Given the description of an element on the screen output the (x, y) to click on. 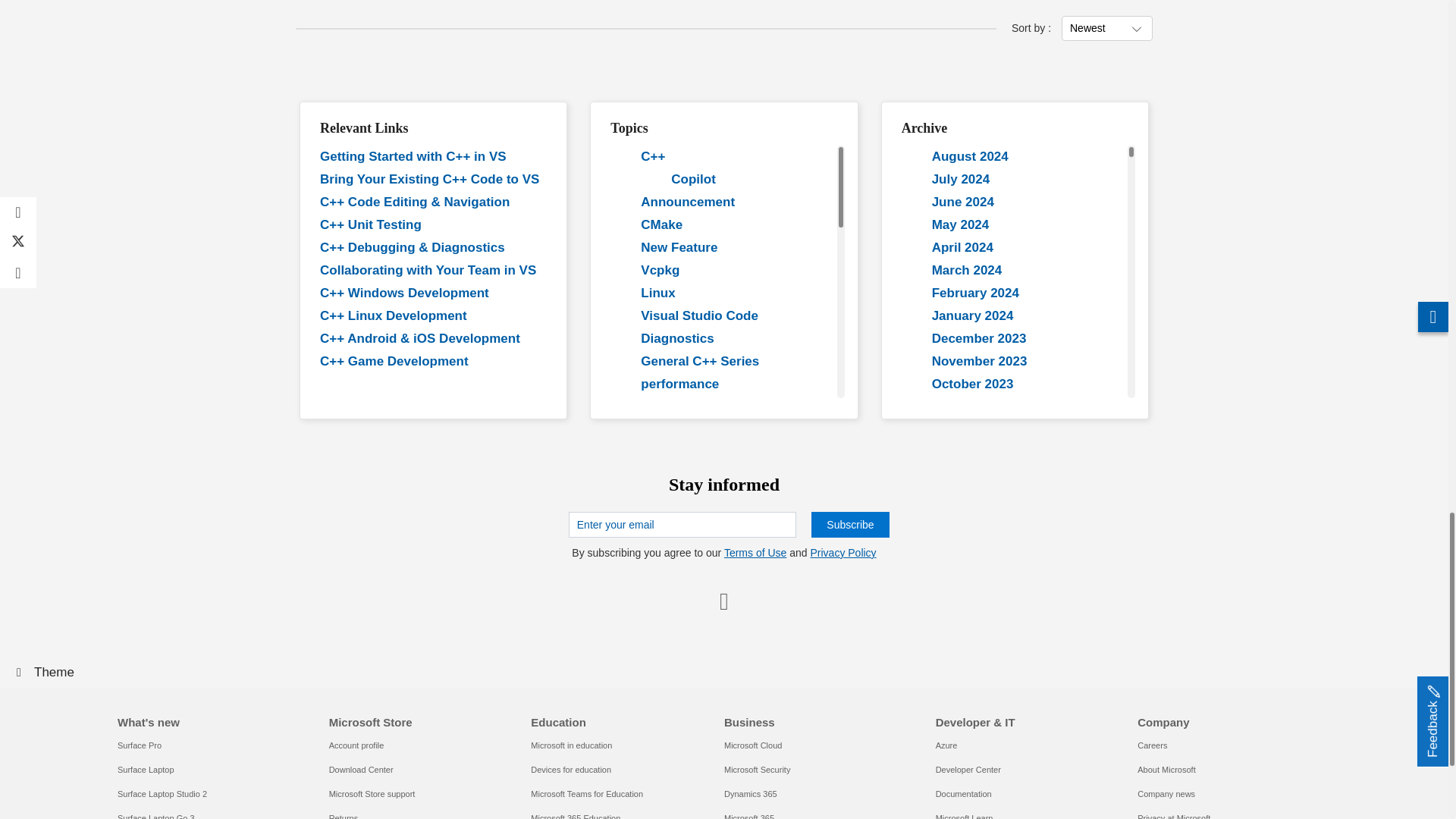
RSS Feed (724, 599)
Subscribe (849, 524)
